Given the description of an element on the screen output the (x, y) to click on. 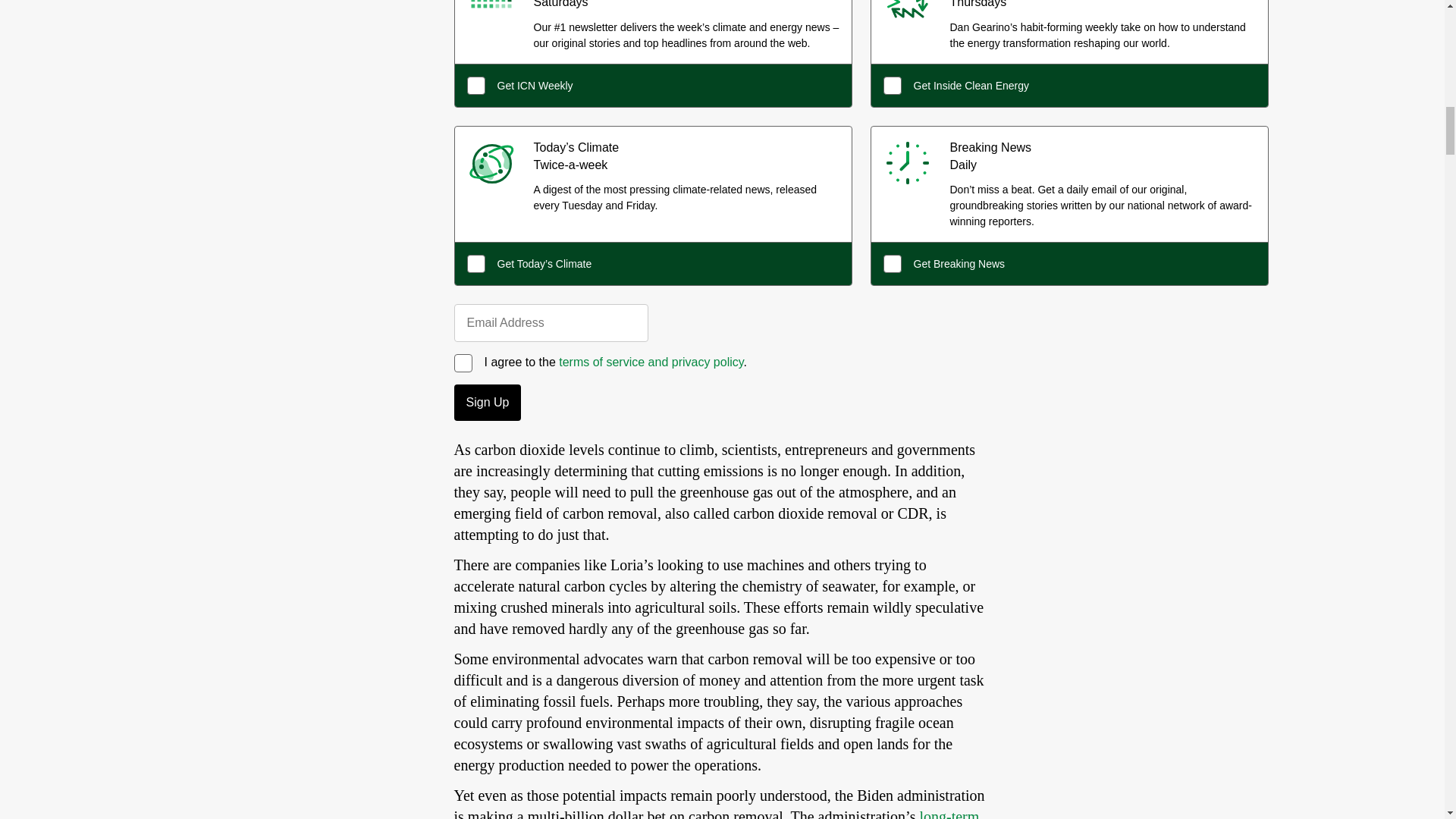
Sign Up (486, 402)
